Given the description of an element on the screen output the (x, y) to click on. 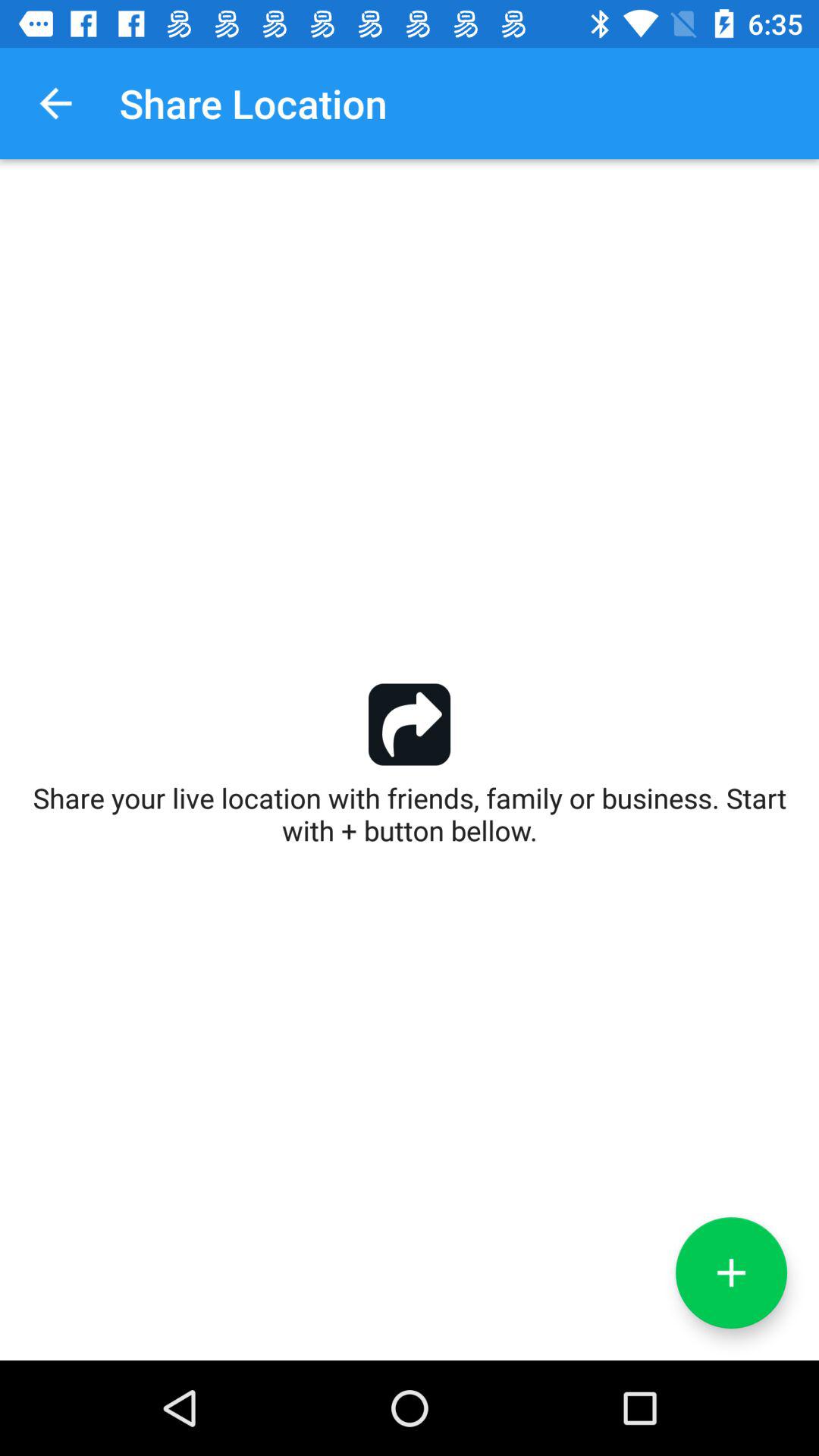
turn off the icon above share your live icon (55, 103)
